Given the description of an element on the screen output the (x, y) to click on. 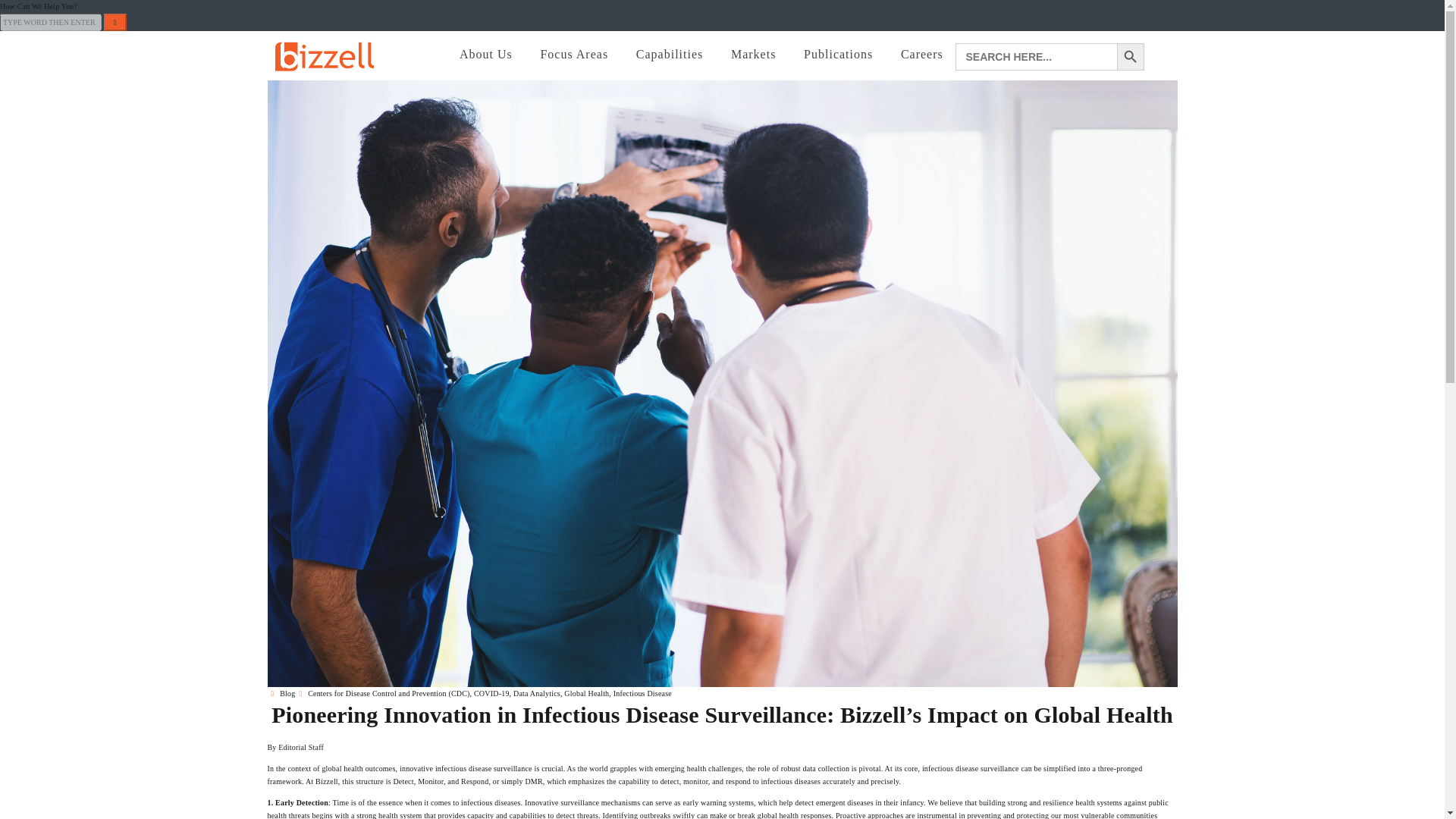
Capabilities (667, 54)
Focus Areas (571, 54)
About Us (483, 54)
